Given the description of an element on the screen output the (x, y) to click on. 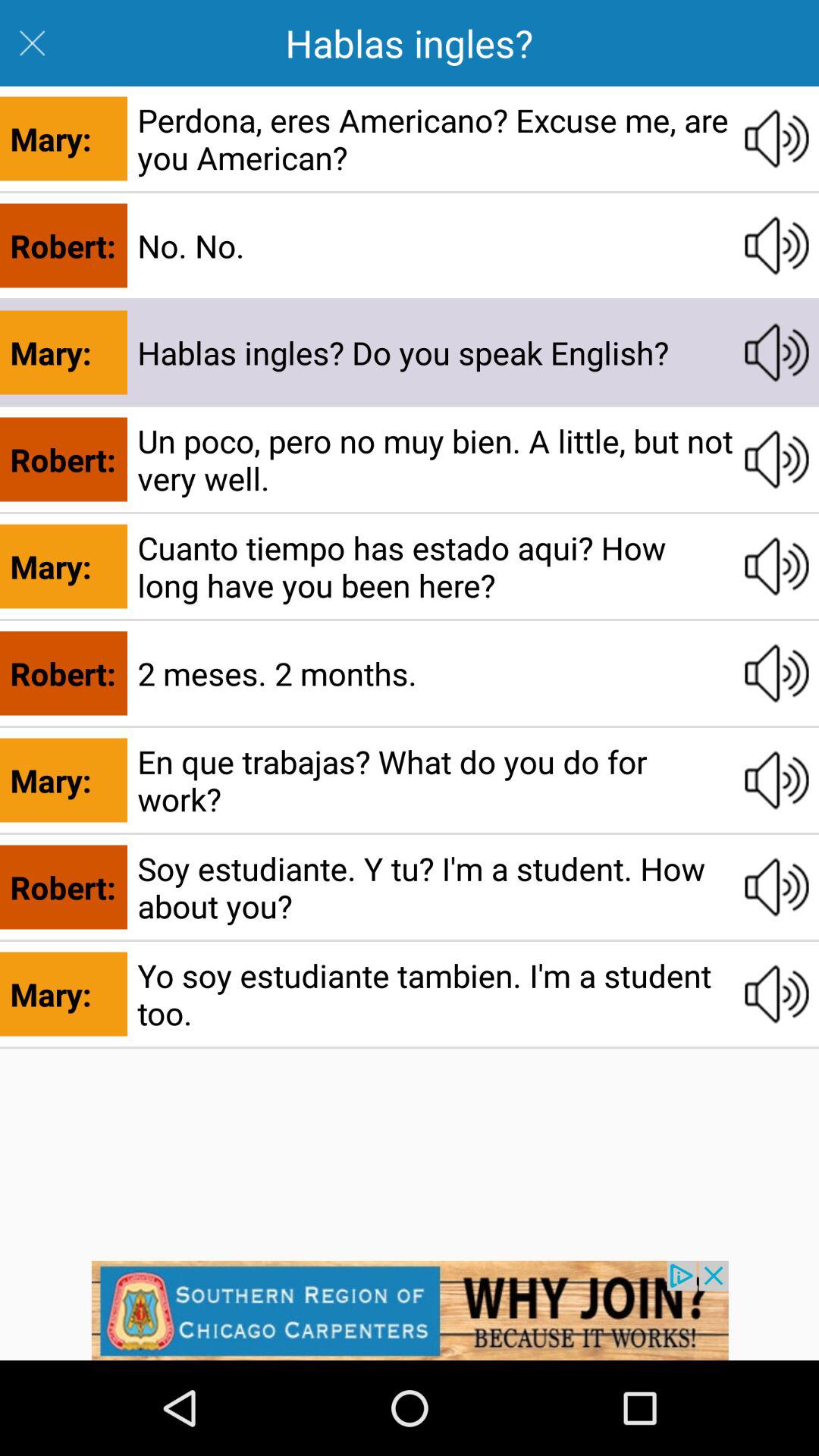
click volume button (776, 352)
